Given the description of an element on the screen output the (x, y) to click on. 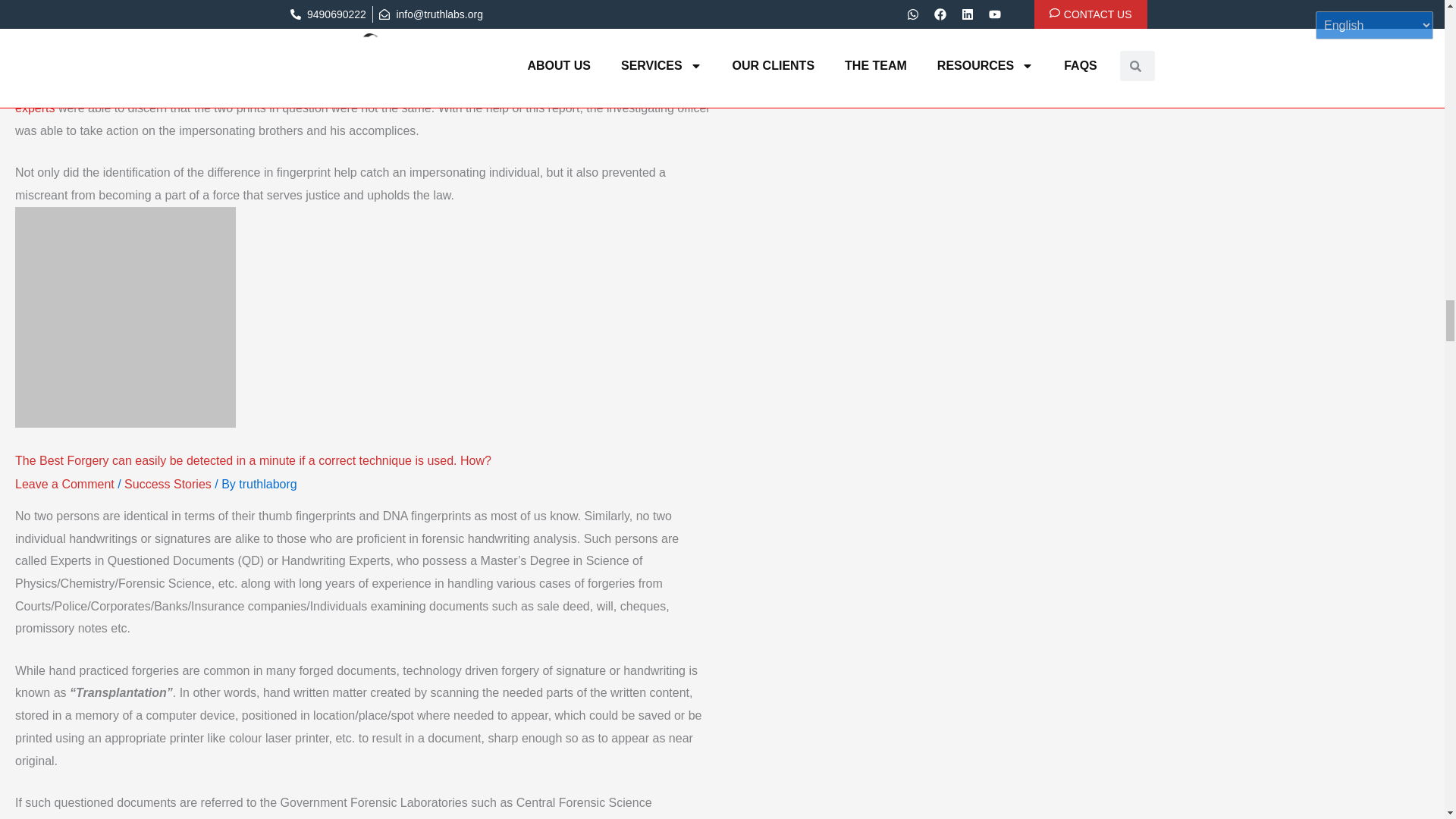
View all posts by truthlaborg (267, 483)
